Given the description of an element on the screen output the (x, y) to click on. 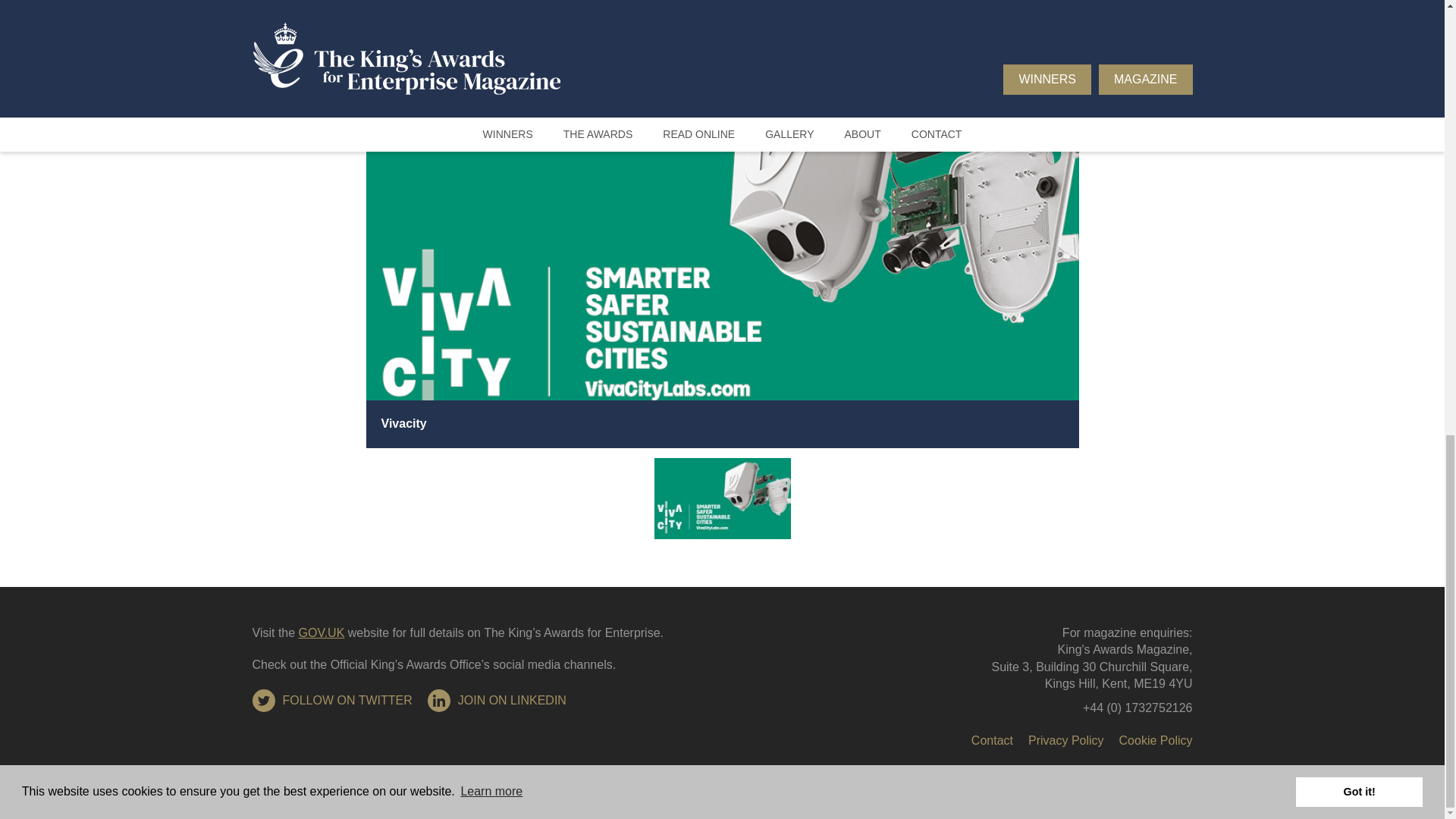
GOV.UK (321, 632)
JOIN ON LINKEDIN (497, 700)
Contact (992, 739)
FOLLOW ON TWITTER (331, 700)
Cookie Policy (1155, 739)
Site by TILT (1160, 771)
Privacy Policy (1065, 739)
Web Design Kent (1160, 771)
